Given the description of an element on the screen output the (x, y) to click on. 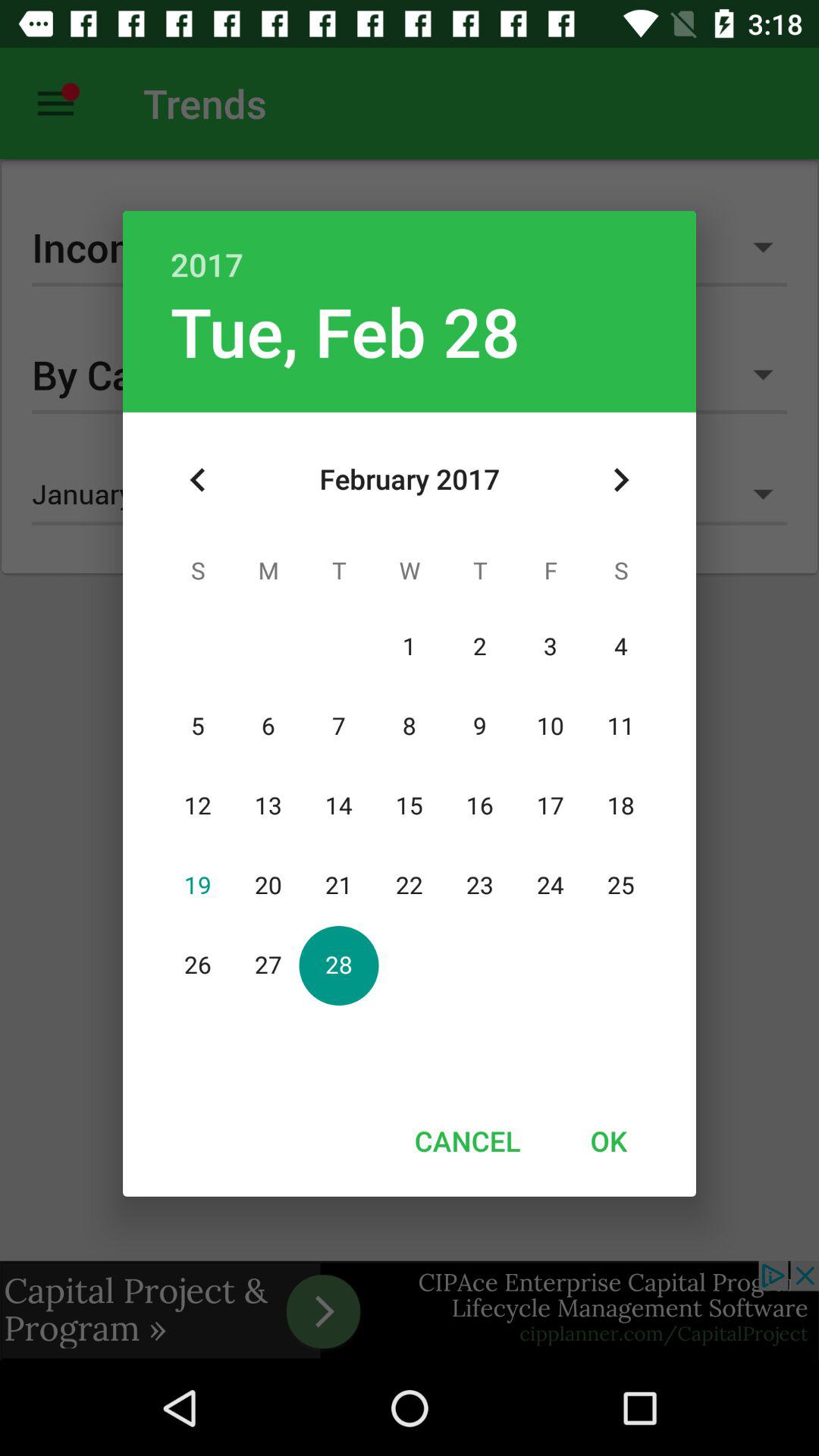
tap the 2017 item (409, 248)
